Given the description of an element on the screen output the (x, y) to click on. 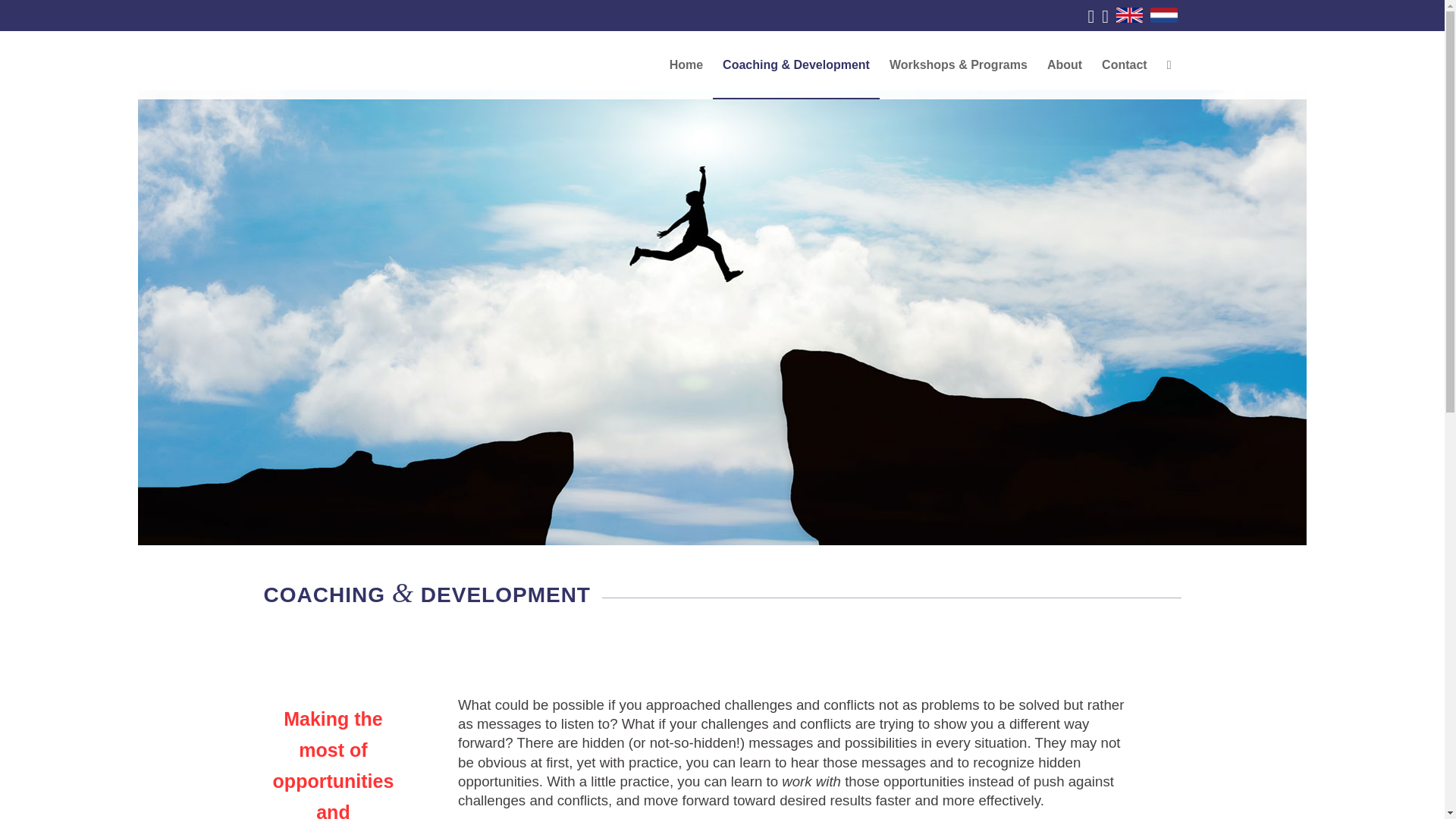
Contact (1124, 64)
